Given the description of an element on the screen output the (x, y) to click on. 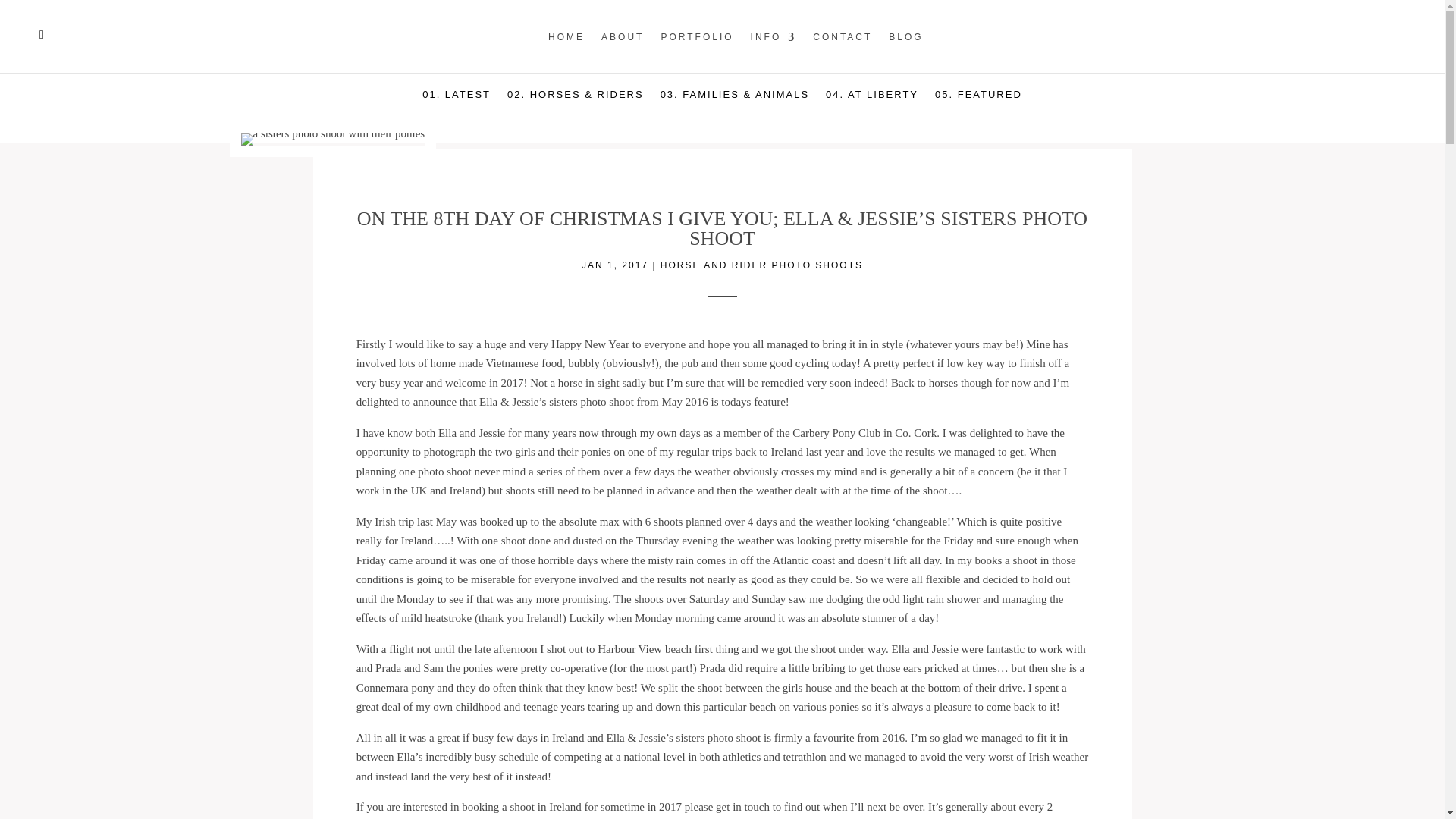
CONTACT (842, 51)
HORSE AND RIDER PHOTO SHOOTS (762, 265)
ABOUT (622, 51)
04. AT LIBERTY (871, 105)
INFO (773, 51)
Horse and rider photo shoot Cork (333, 139)
PORTFOLIO (697, 51)
05. FEATURED (978, 105)
01. LATEST (456, 105)
